Given the description of an element on the screen output the (x, y) to click on. 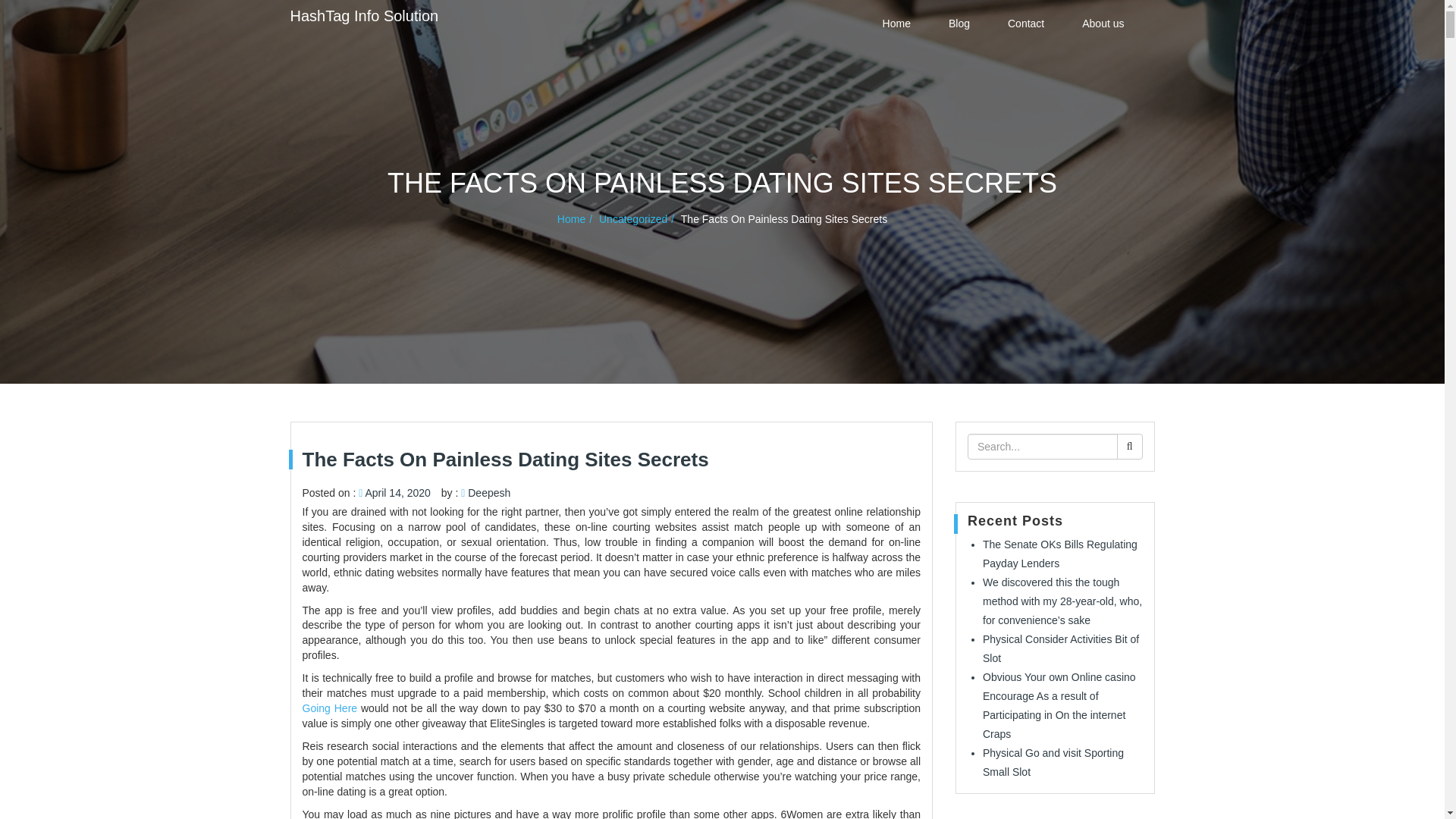
Deepesh (489, 492)
April 14, 2020 (397, 492)
Physical Go and visit Sporting Small Slot (1053, 762)
The Senate OKs Bills Regulating Payday Lenders (1059, 553)
Physical Consider Activities Bit of Slot (1060, 648)
Home (576, 218)
4:02 pm (397, 492)
Home (896, 23)
Contact (1025, 23)
Blog (959, 23)
